Given the description of an element on the screen output the (x, y) to click on. 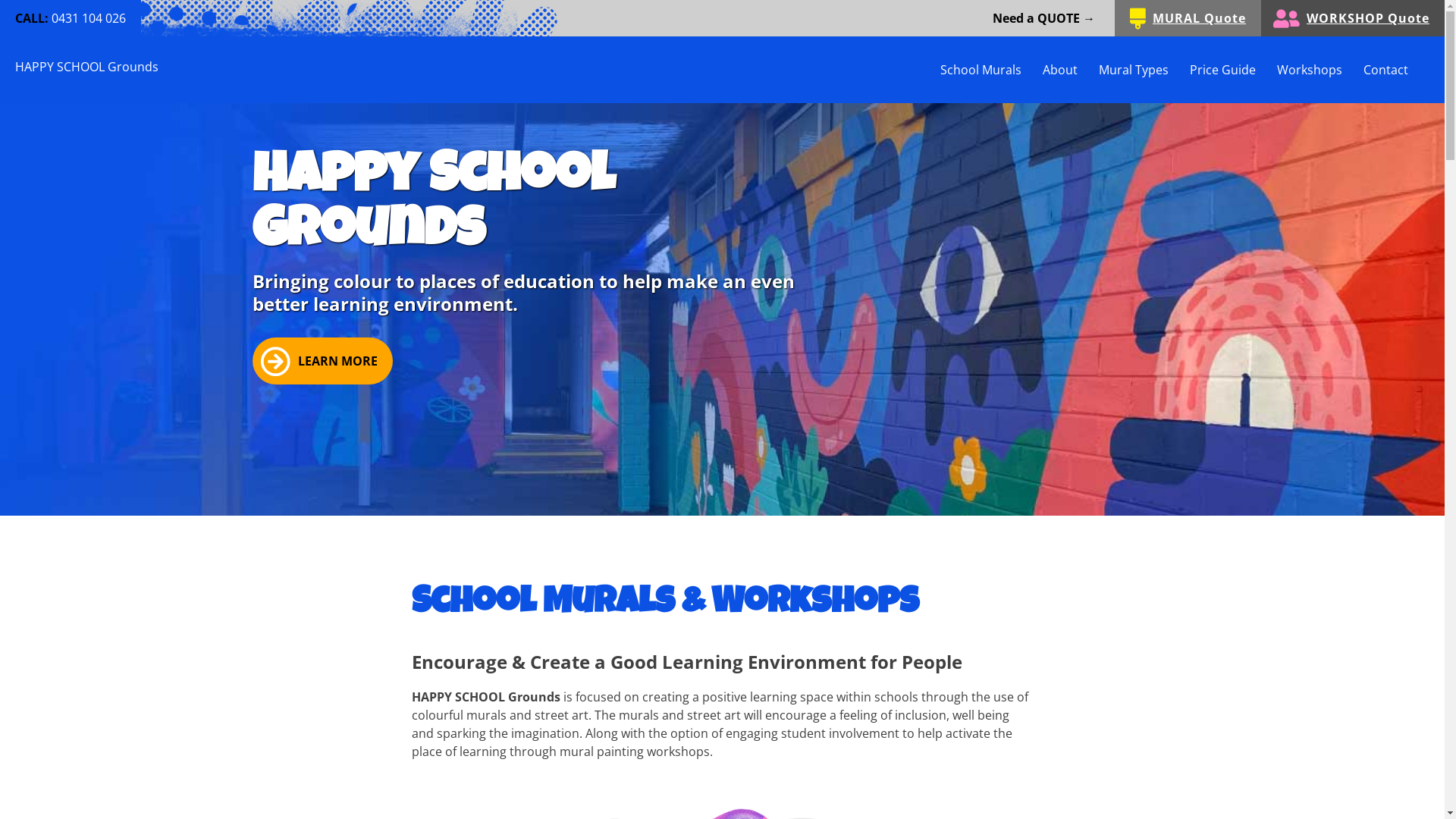
WORKSHOP Quote Element type: text (1352, 18)
0431 104 026 Element type: text (88, 17)
Mural Types Element type: text (1143, 69)
Price Guide Element type: text (1233, 69)
About Element type: text (1070, 69)
HAPPY SCHOOL Grounds Element type: text (86, 66)
LEARN MORE Element type: text (321, 360)
MURAL Quote Element type: text (1187, 18)
Contact Element type: text (1396, 69)
School Murals Element type: text (991, 69)
Workshops Element type: text (1320, 69)
